Given the description of an element on the screen output the (x, y) to click on. 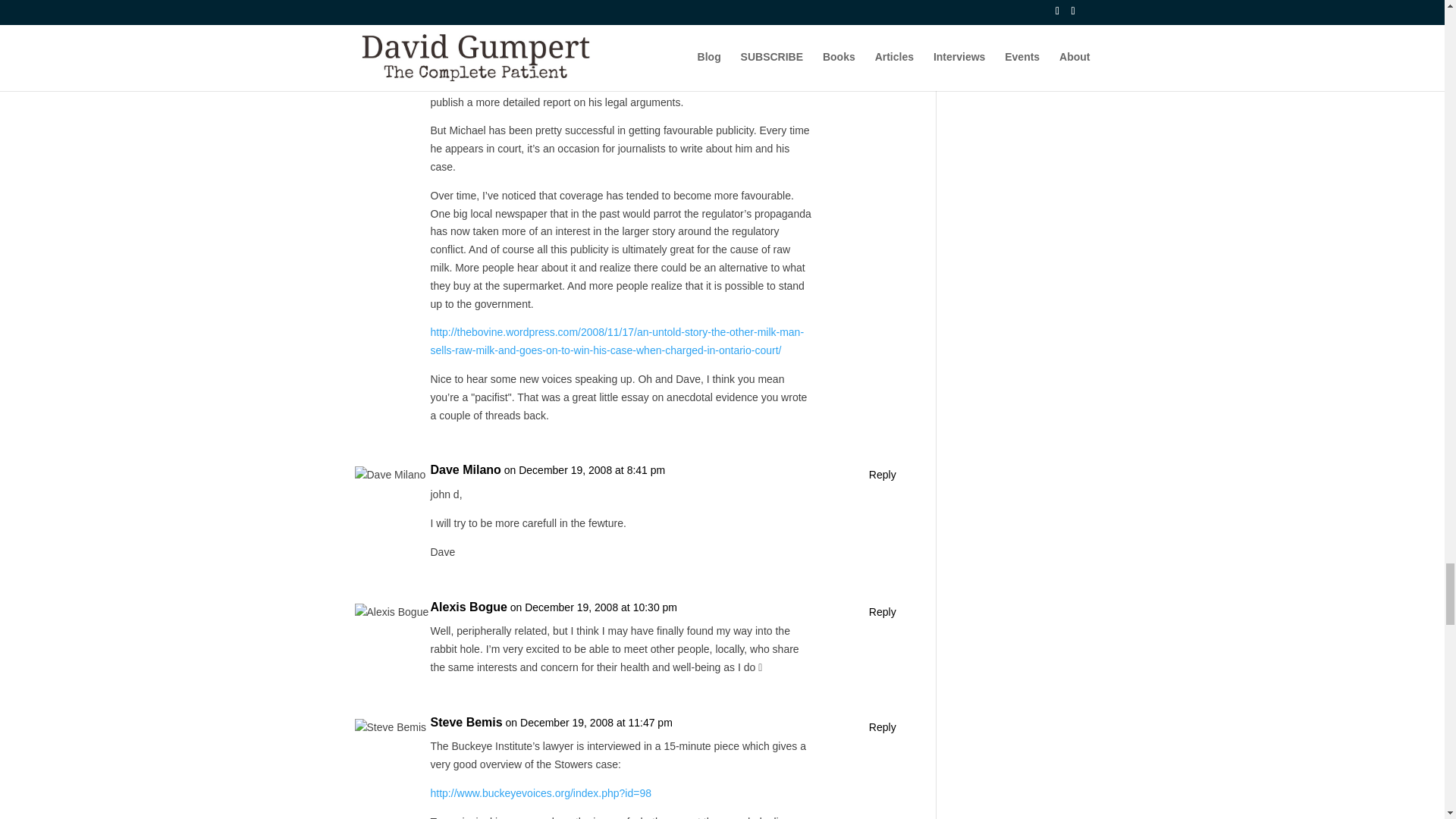
Reply (882, 475)
Reply (882, 728)
Reply (882, 612)
